Given the description of an element on the screen output the (x, y) to click on. 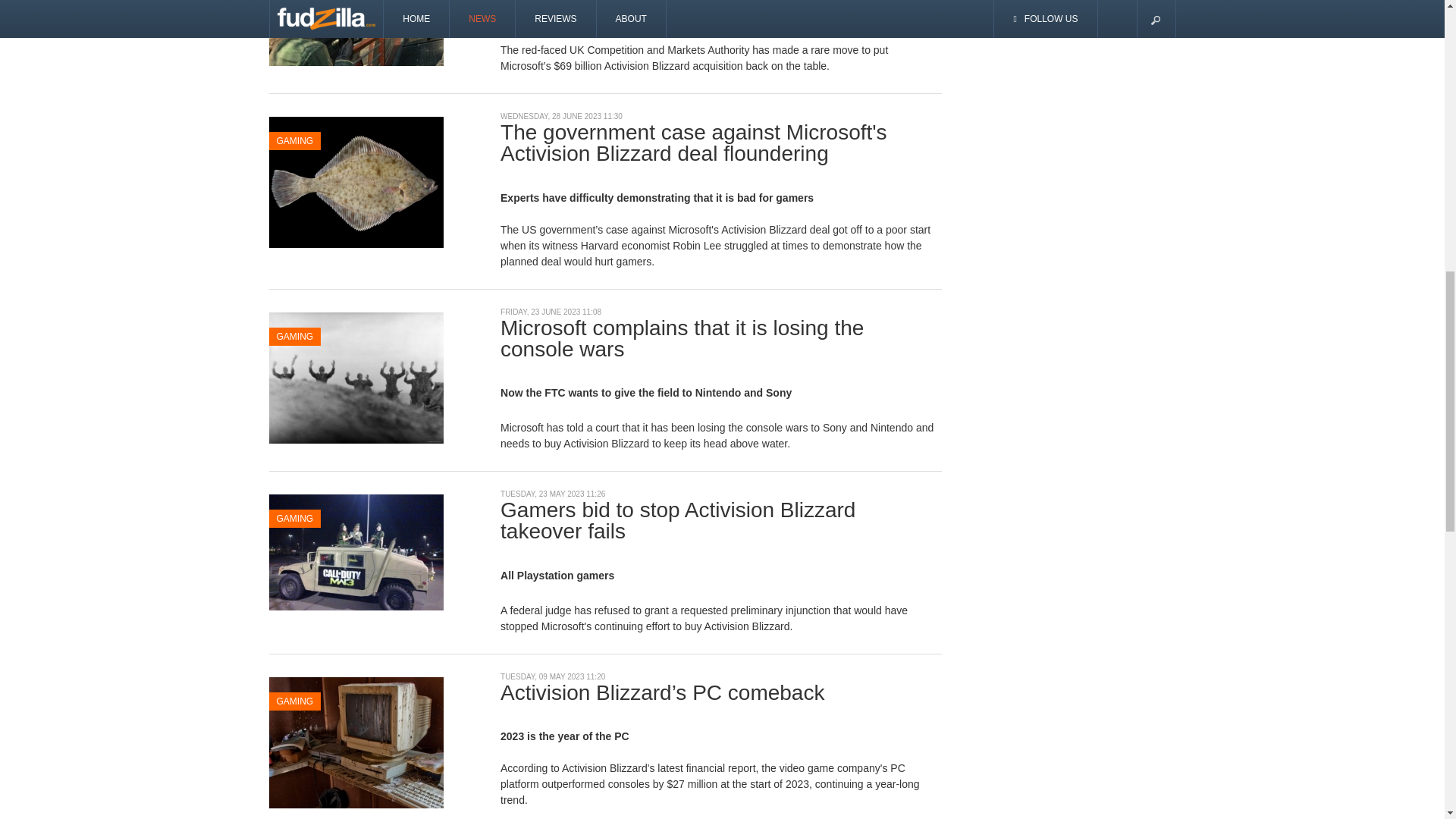
Gamers bid to stop Activision Blizzard takeover fails (354, 551)
Microsoft complains that it is losing the console wars (354, 377)
